Given the description of an element on the screen output the (x, y) to click on. 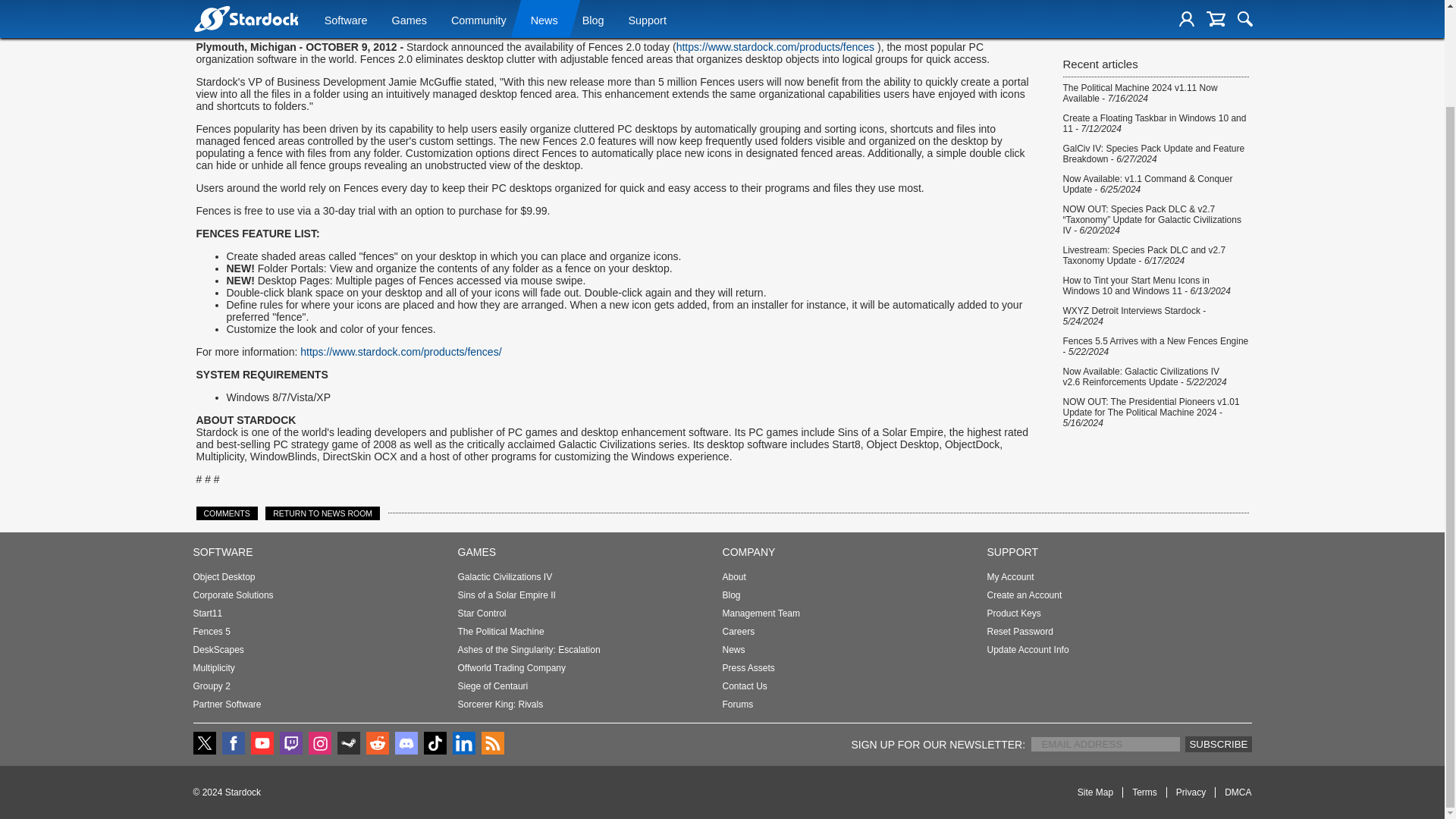
Stardock LinkedIn (462, 744)
Stardock on Twitter (203, 744)
Stardock Games on Twitch.tv (290, 744)
Stardock Instagram (318, 744)
Stardock Games RSS Feed (491, 744)
Stardock Games on YouTube (261, 744)
Stardock TikTok (434, 744)
Stardock at Discord (405, 744)
Stardock at Reddit (376, 744)
Stardock on Facebook (232, 744)
Stardock Games on Steam (347, 744)
